Given the description of an element on the screen output the (x, y) to click on. 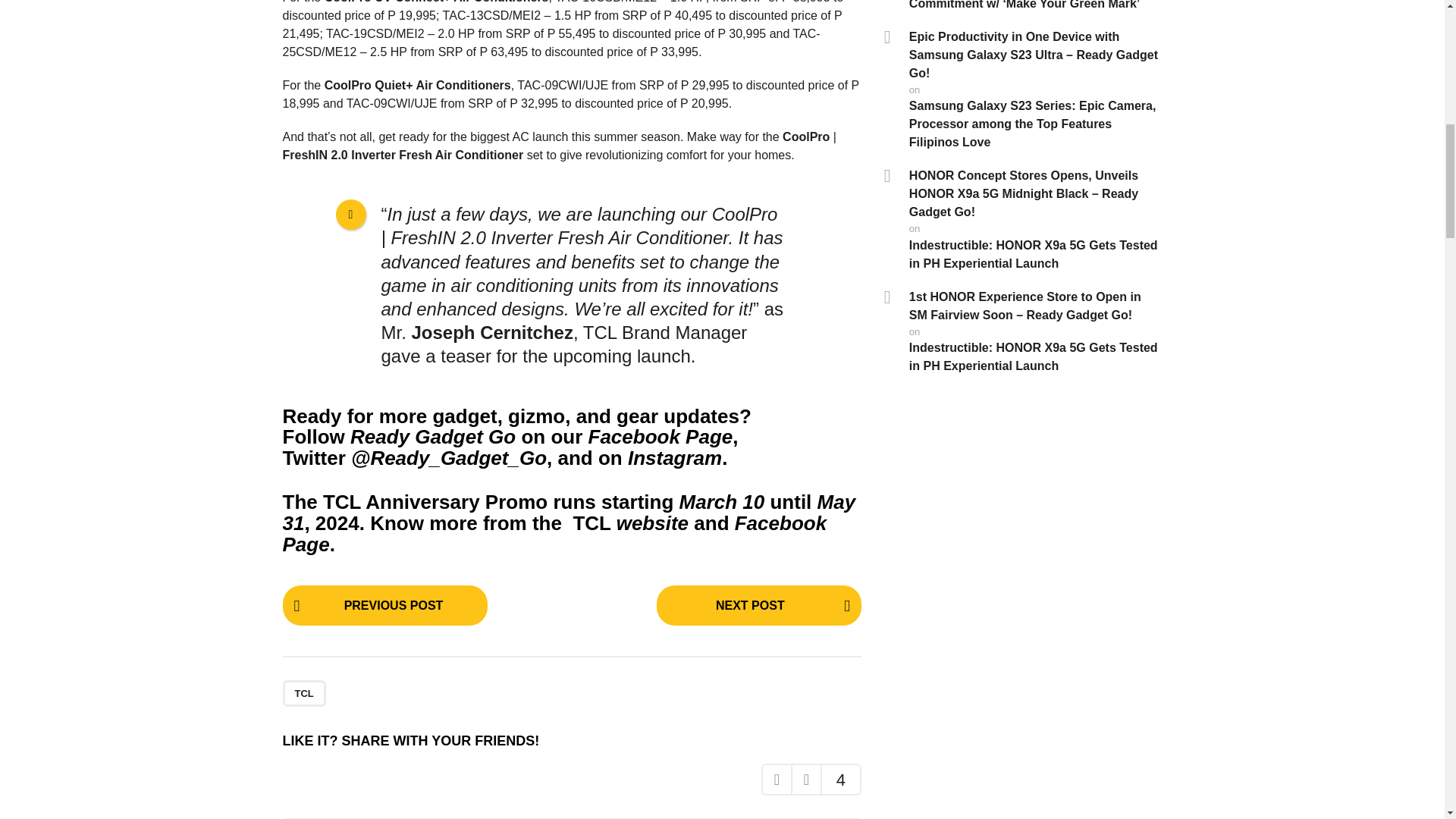
Facebook Page (554, 533)
Instagram (674, 457)
PREVIOUS POST (384, 605)
TCL (303, 693)
Facebook Page (660, 436)
website (651, 522)
NEXT POST (758, 605)
